Given the description of an element on the screen output the (x, y) to click on. 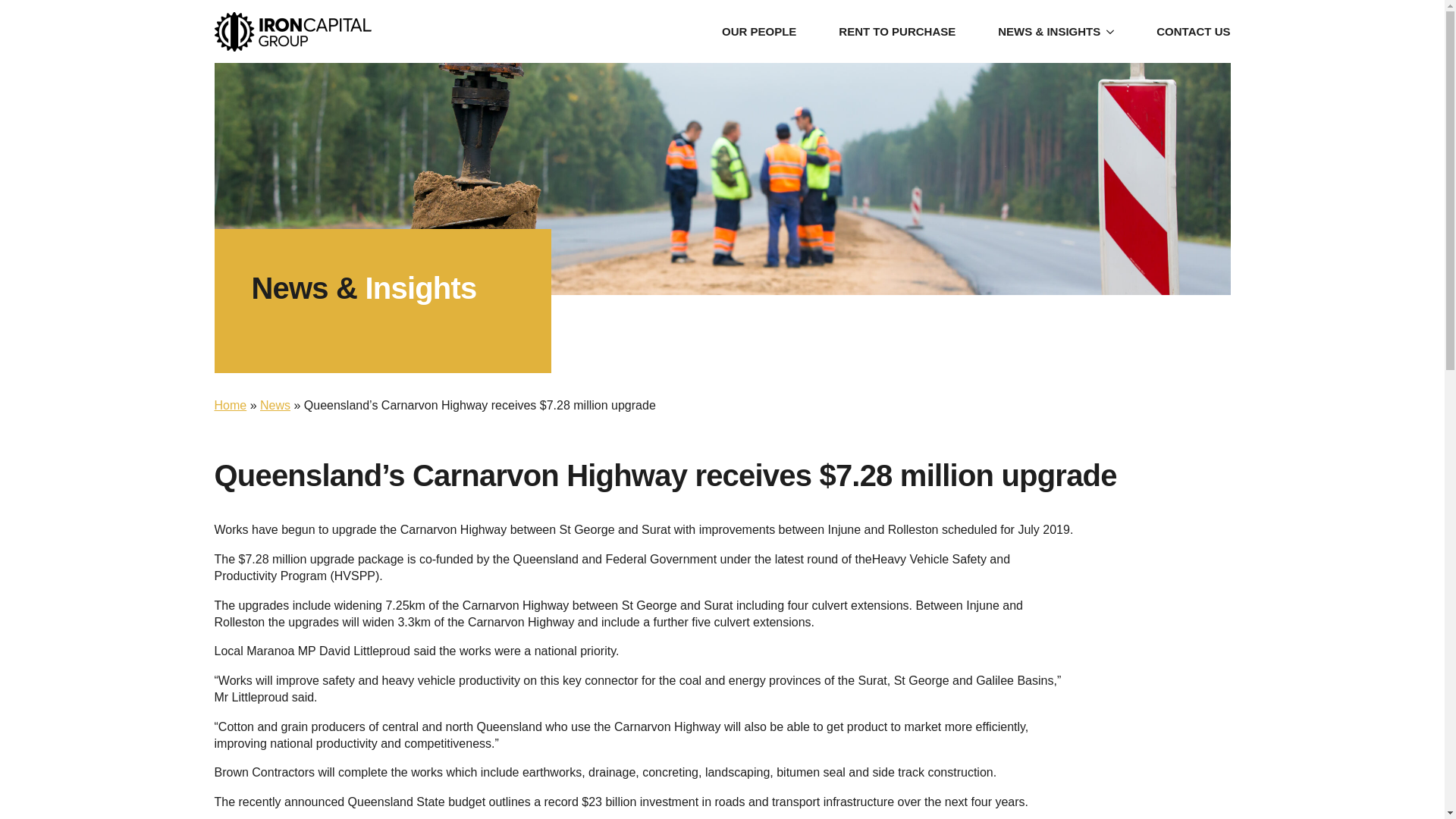
Home (230, 404)
News (274, 404)
News (274, 404)
RENT TO PURCHASE (896, 31)
CONTACT US (1193, 31)
Home (230, 404)
OUR PEOPLE (759, 31)
